Given the description of an element on the screen output the (x, y) to click on. 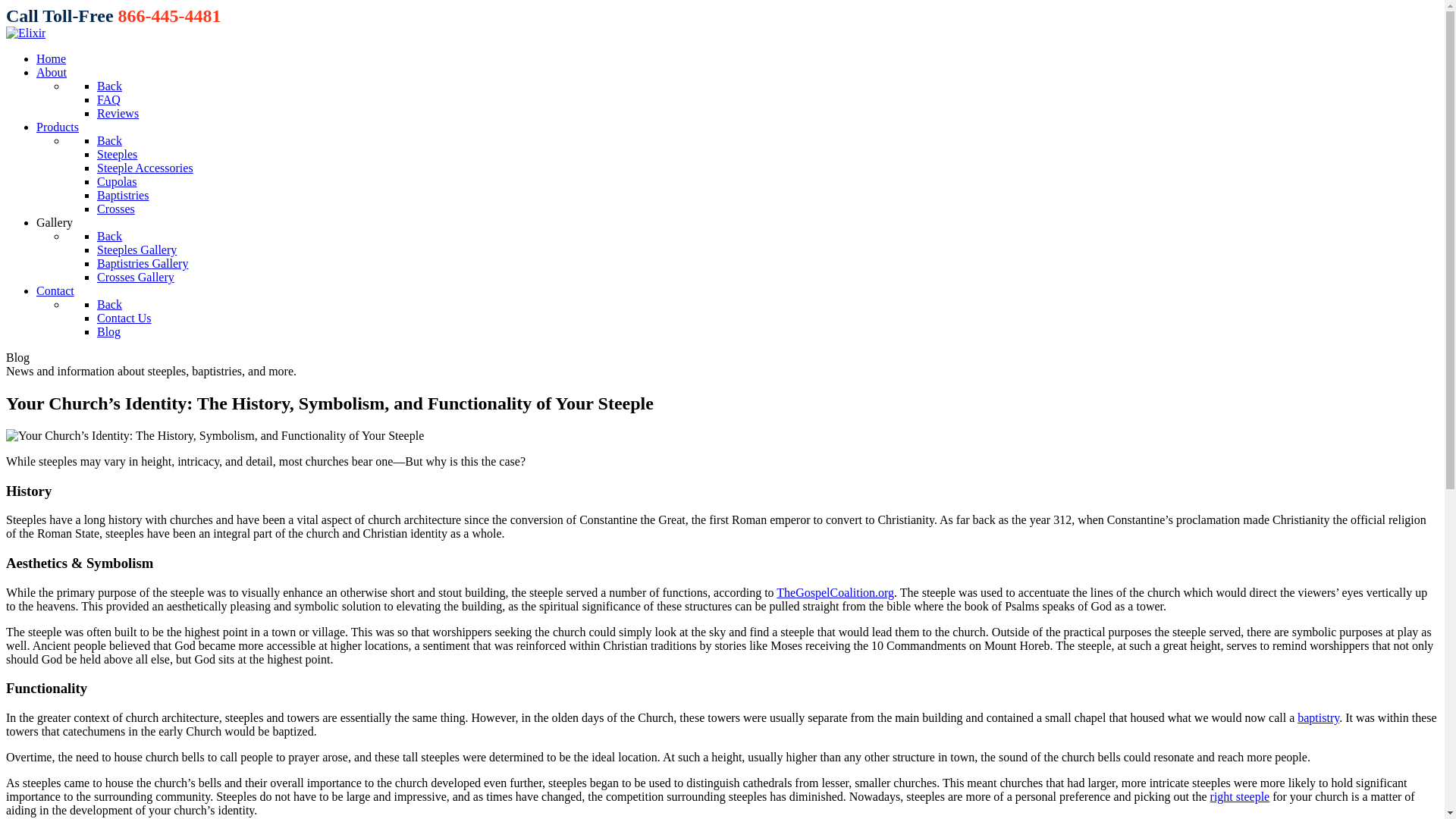
Back (109, 85)
Baptistries (122, 195)
Contact (55, 290)
Back (109, 140)
Steeple Accessories (145, 167)
FAQ (108, 99)
Steeples (116, 154)
TheGospelCoalition.org (834, 592)
Contact Us (124, 318)
Back (109, 236)
